Given the description of an element on the screen output the (x, y) to click on. 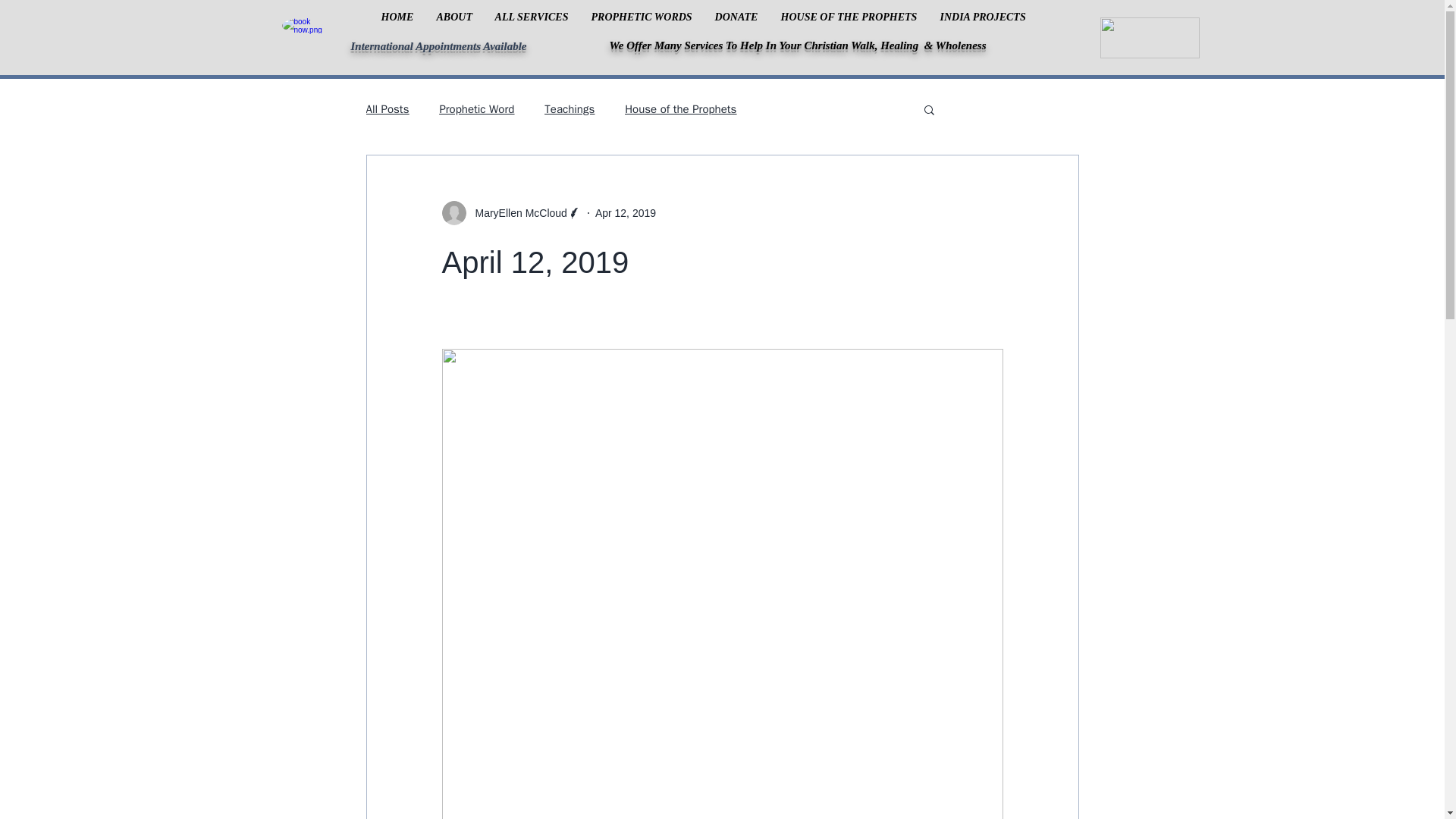
All Posts (387, 108)
ALL SERVICES (531, 16)
Prophetic Word (476, 108)
INDIA PROJECTS (982, 16)
MaryEllen McCloud (515, 212)
House of the Prophets (680, 108)
Apr 12, 2019 (625, 212)
Teachings (569, 108)
HOME (397, 16)
PROPHETIC WORDS (641, 16)
